Given the description of an element on the screen output the (x, y) to click on. 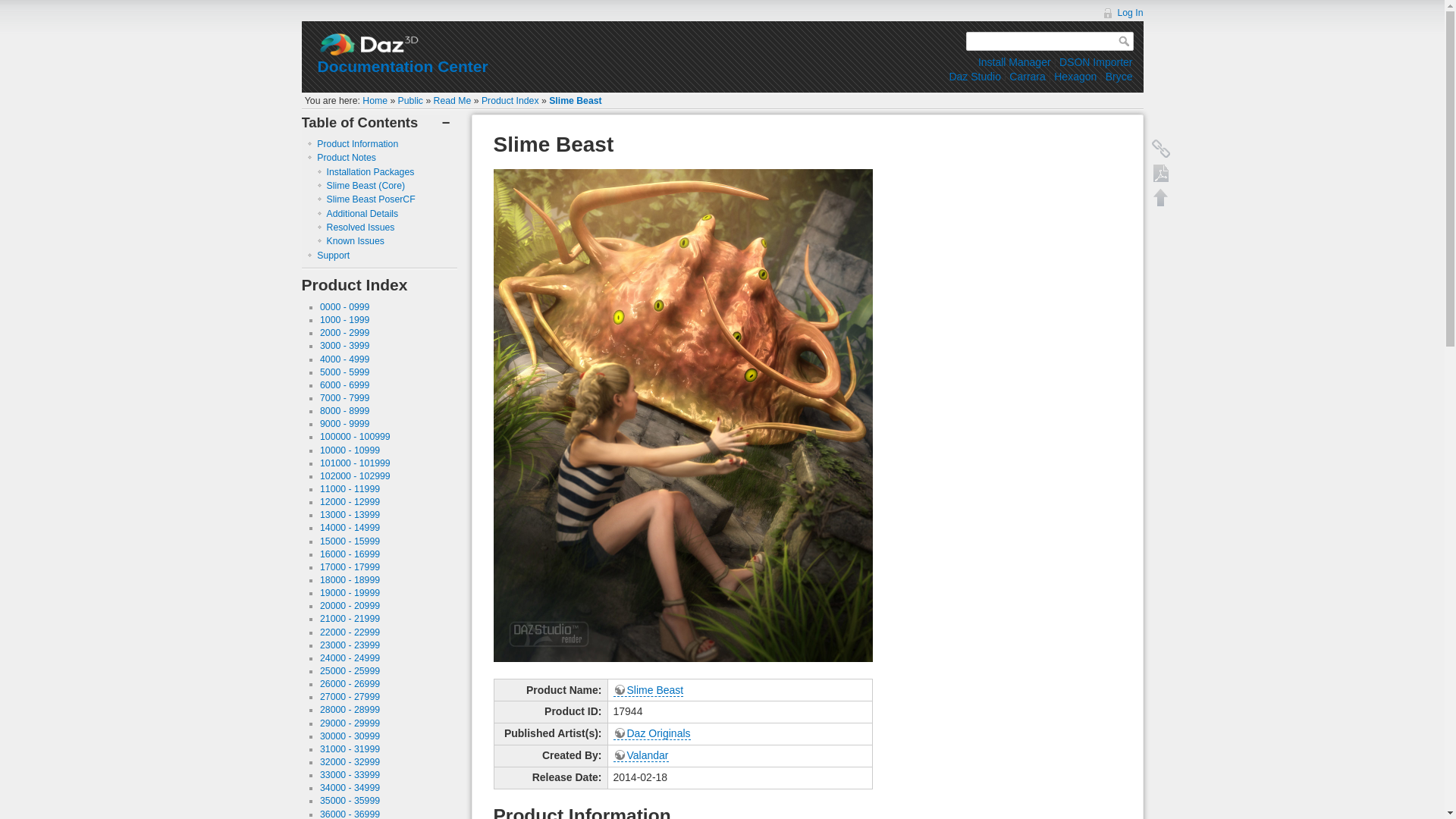
5000 - 5999 (344, 371)
public:software:hexagon:start (1075, 76)
0000 - 0999 (344, 307)
Search (1125, 40)
Log In (1122, 12)
9000 - 9999 (344, 423)
Slime Beast PoserCF (370, 199)
Search (1125, 40)
Product Notes (346, 157)
Resolved Issues (360, 226)
Slime Beast (574, 100)
6000 - 6999 (344, 385)
public:software:carrara:start (1027, 76)
Daz Studio (974, 76)
Installation Packages (370, 172)
